Given the description of an element on the screen output the (x, y) to click on. 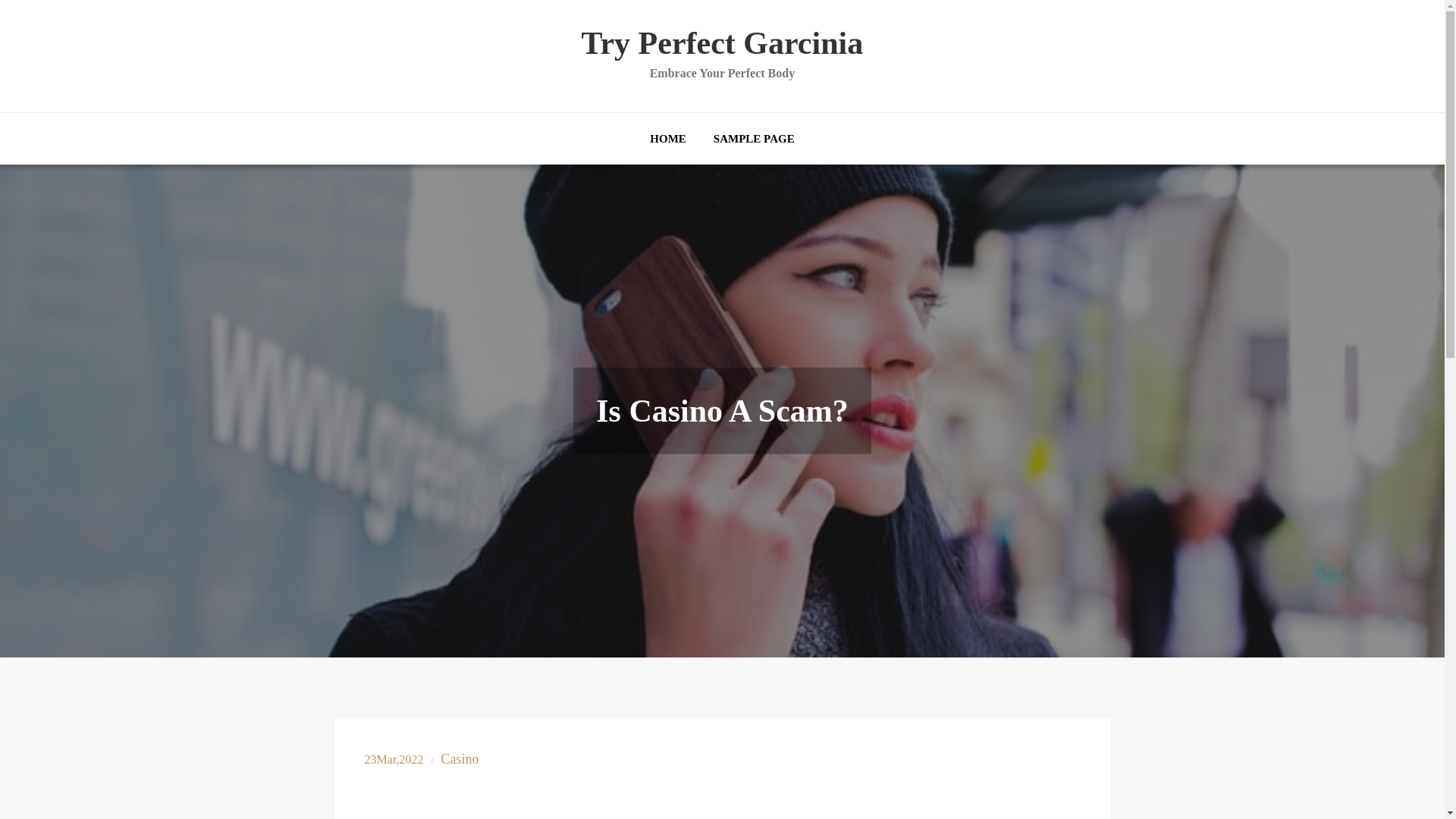
Casino (460, 758)
SAMPLE PAGE (754, 138)
HOME (668, 138)
23Mar,2022 (393, 758)
Try Perfect Garcinia (721, 42)
